Given the description of an element on the screen output the (x, y) to click on. 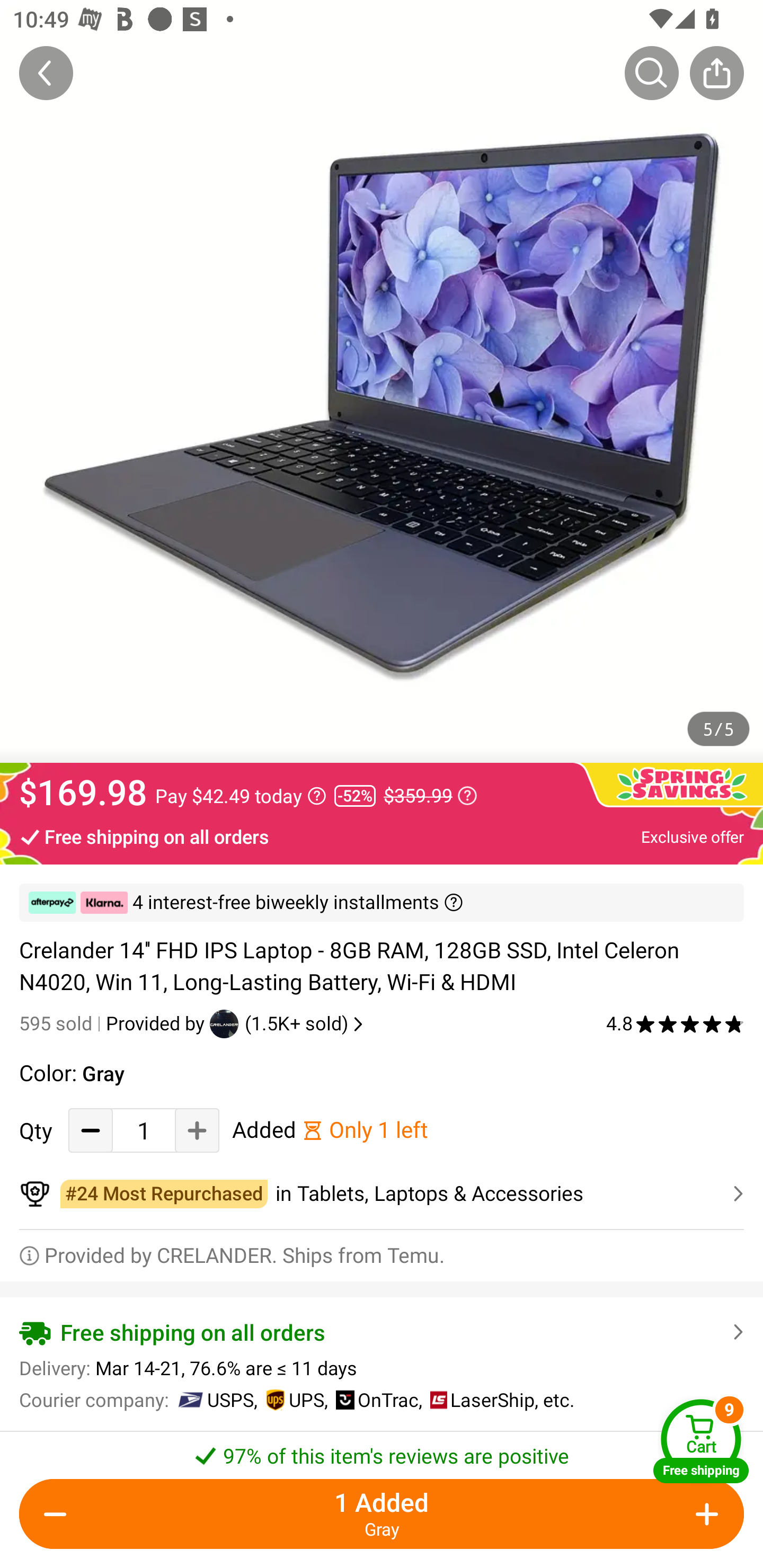
Back (46, 72)
Share (716, 72)
Pay $42.49 today   (240, 795)
Free shipping on all orders Exclusive offer (381, 836)
￼ ￼ 4 interest-free biweekly installments ￼ (381, 902)
595 sold Provided by  (114, 1023)
4.8 (674, 1023)
Decrease Quantity Button (90, 1130)
1 (143, 1130)
Add Quantity button (196, 1130)
￼￼in Tablets, Laptops & Accessories (381, 1193)
Cart Free shipping Cart (701, 1440)
￼￼97% of this item's reviews are positive (381, 1450)
Decrease Quantity Button (59, 1513)
Add Quantity button (703, 1513)
